Given the description of an element on the screen output the (x, y) to click on. 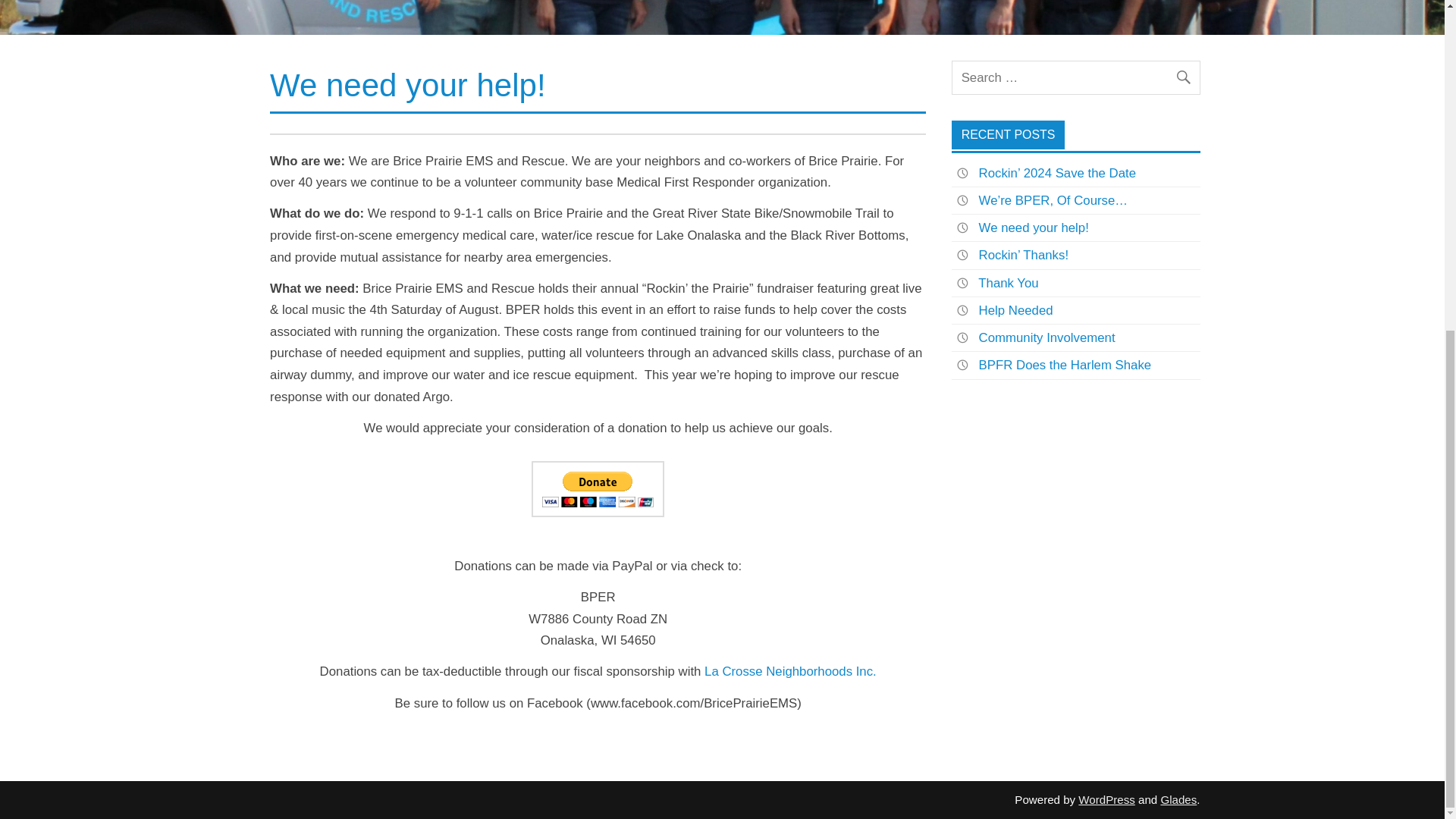
BPFR Does the Harlem Shake (1064, 364)
Help Needed (1015, 310)
Glades (1178, 799)
We need your help! (1033, 227)
WordPress (1106, 799)
Glades WordPress Theme (1178, 799)
Community Involvement (1046, 337)
La Crosse Neighborhoods Inc. (790, 671)
WordPress (1106, 799)
Thank You (1008, 283)
